Given the description of an element on the screen output the (x, y) to click on. 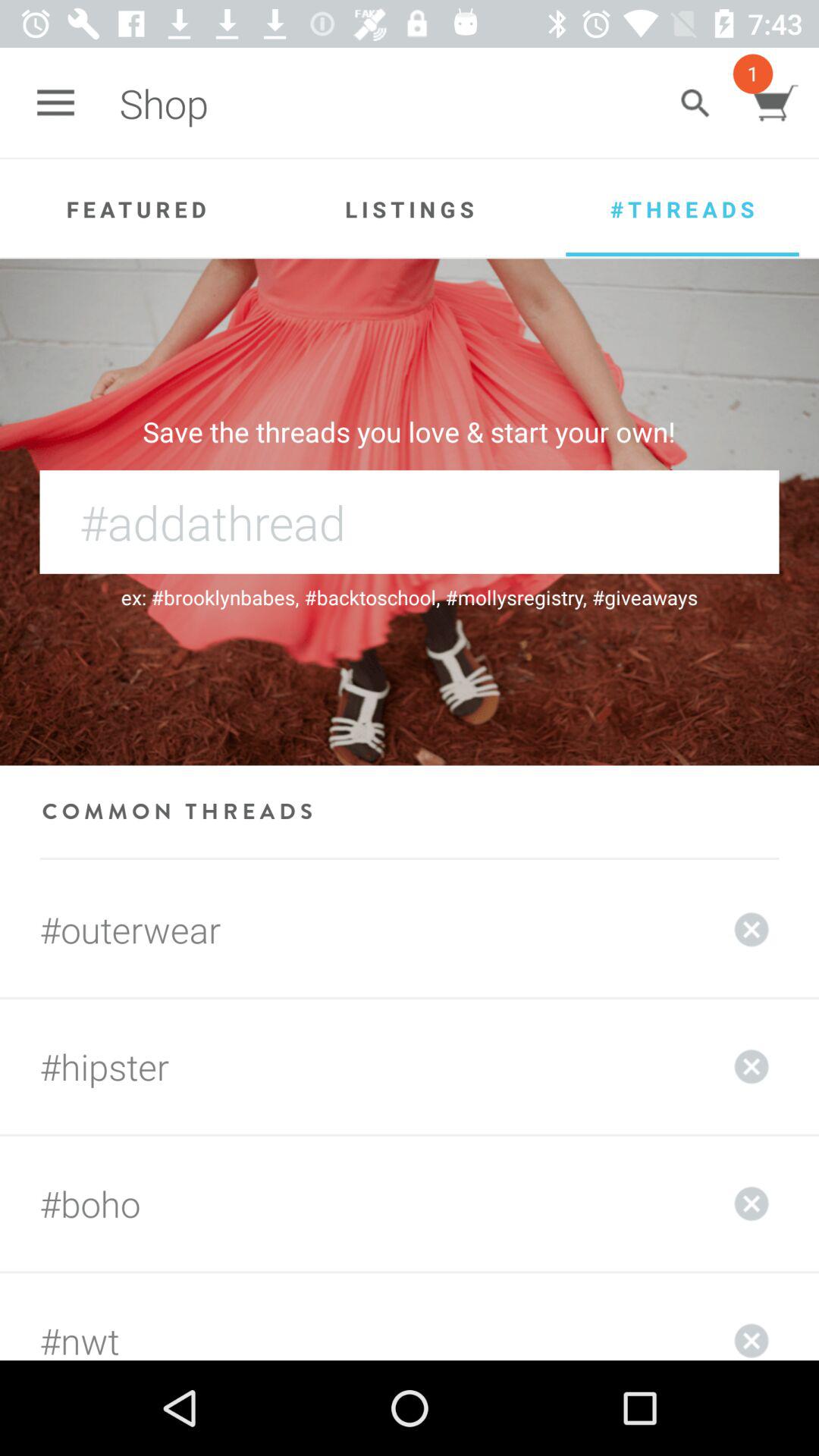
close button (751, 929)
